Given the description of an element on the screen output the (x, y) to click on. 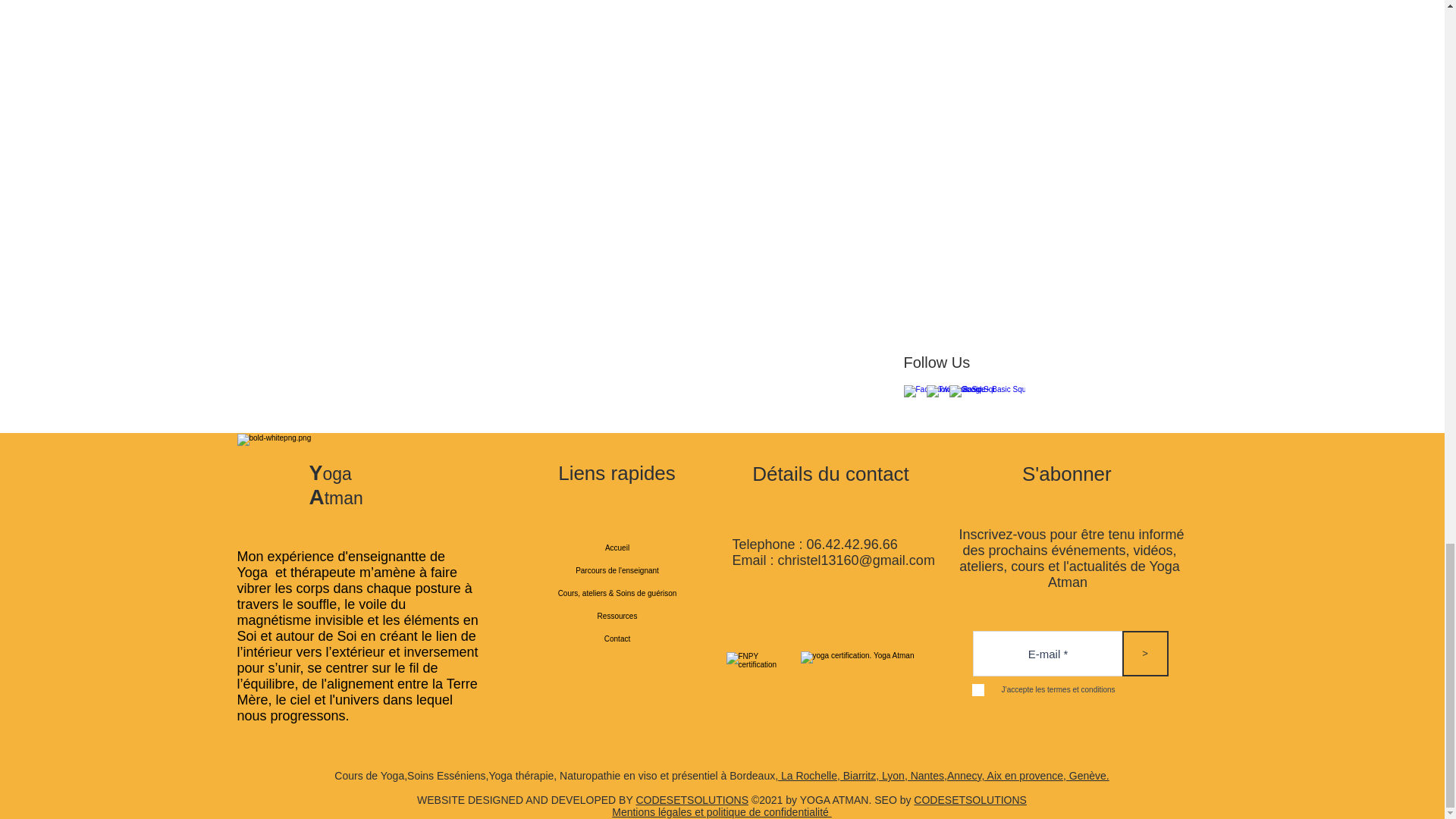
Contact (617, 639)
Parcours de l'enseignant (617, 570)
Accueil (617, 548)
